Given the description of an element on the screen output the (x, y) to click on. 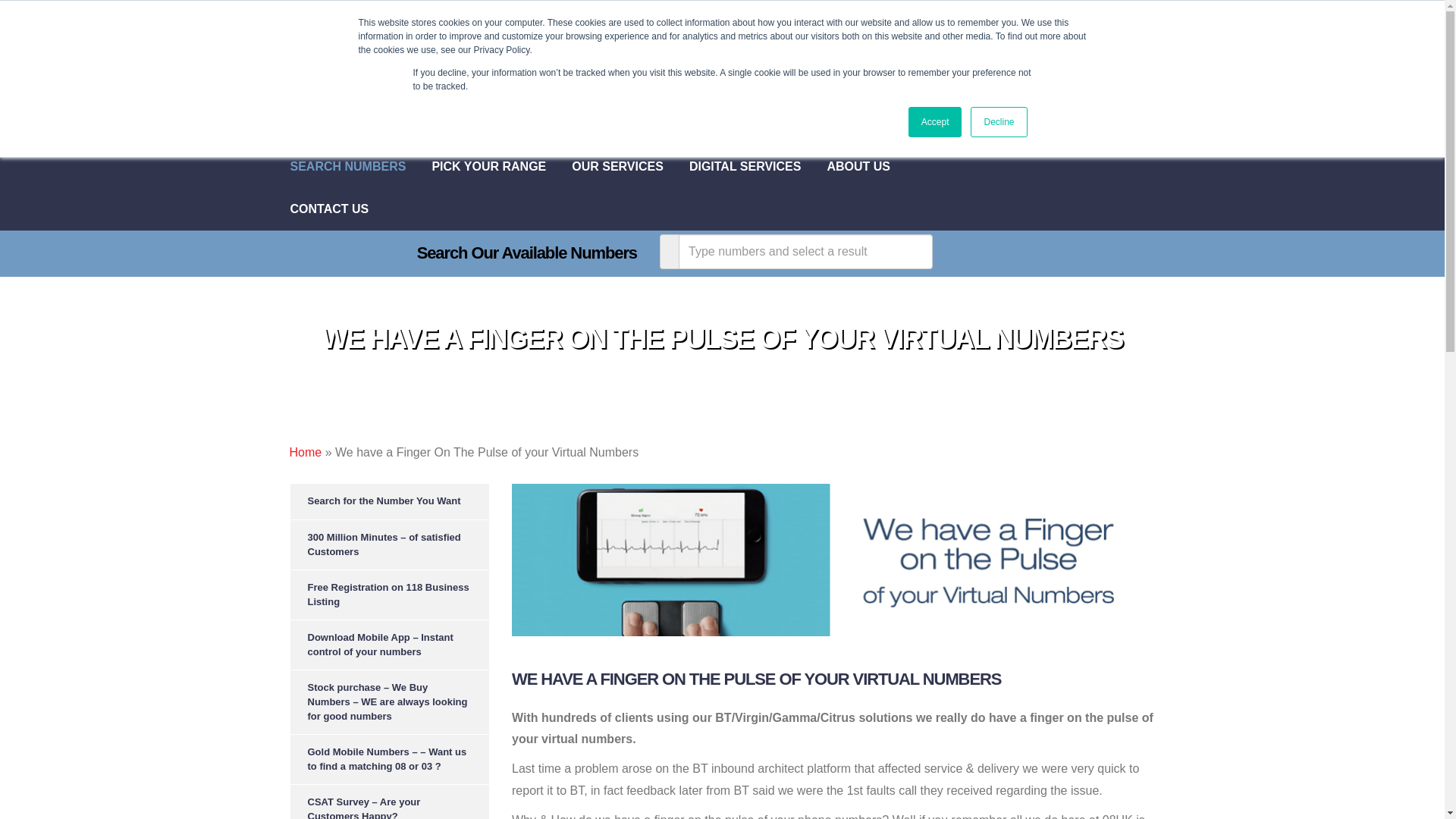
0800 692 7000 (953, 24)
Decline (998, 122)
Accept (935, 122)
SEARCH NUMBERS (359, 166)
click here to visit our forest (946, 106)
Plant A Tree For Every Number (831, 96)
We have a Finger On The Pulse of your Virtual Numbers (833, 559)
Plant 10 Trees With CSAT (818, 114)
PICK YOUR RANGE (501, 166)
DIGITAL SERVICES (757, 166)
OUR SERVICES (630, 166)
Search Our Site With A Keyword: (1073, 108)
Type numbers and then select a result. eg 0800 123 4567 (805, 251)
QUOTE NOW (1055, 26)
